Given the description of an element on the screen output the (x, y) to click on. 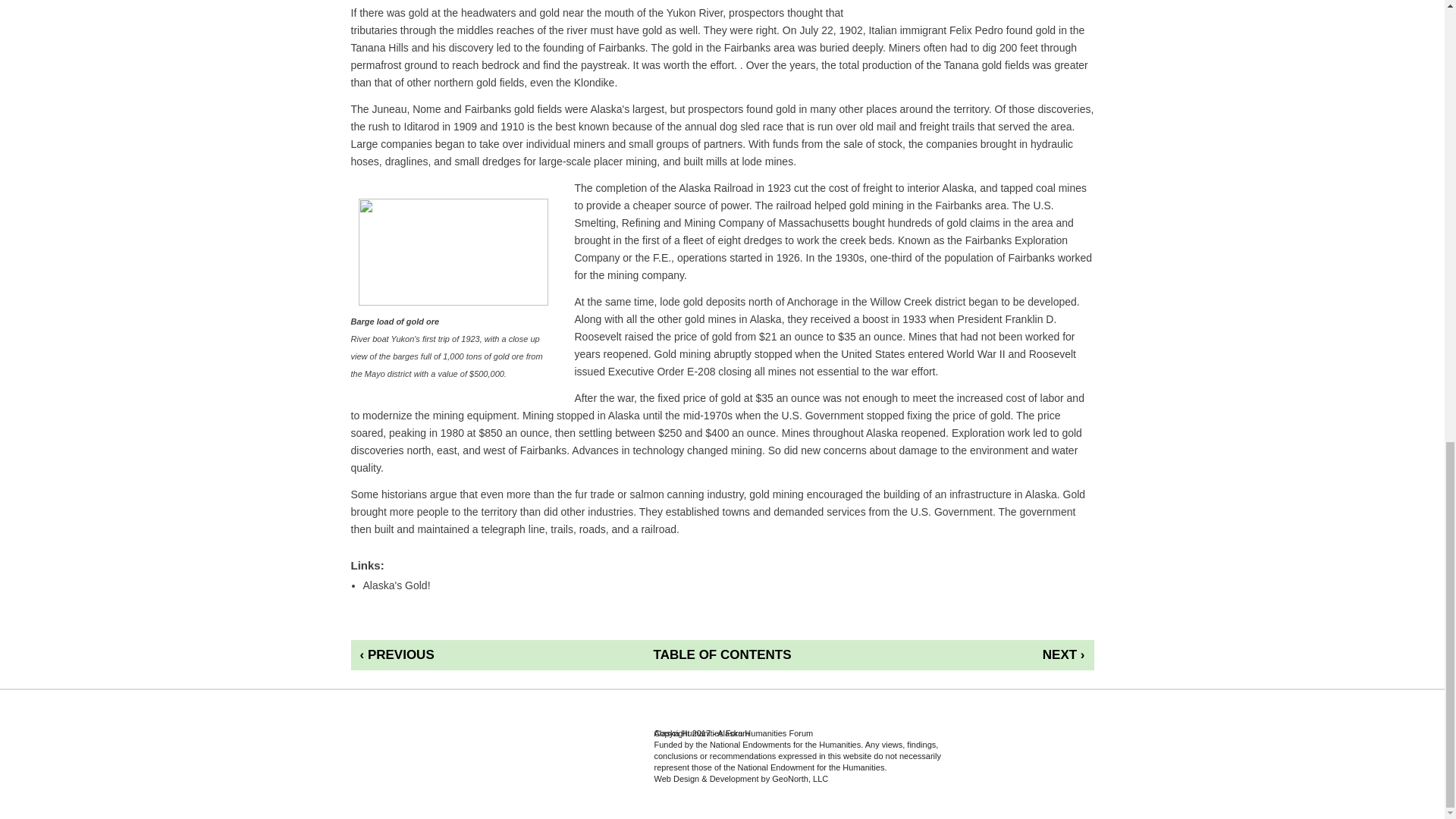
Go to previous page (442, 654)
Go to next page (1001, 654)
Go to parent page (721, 654)
